Given the description of an element on the screen output the (x, y) to click on. 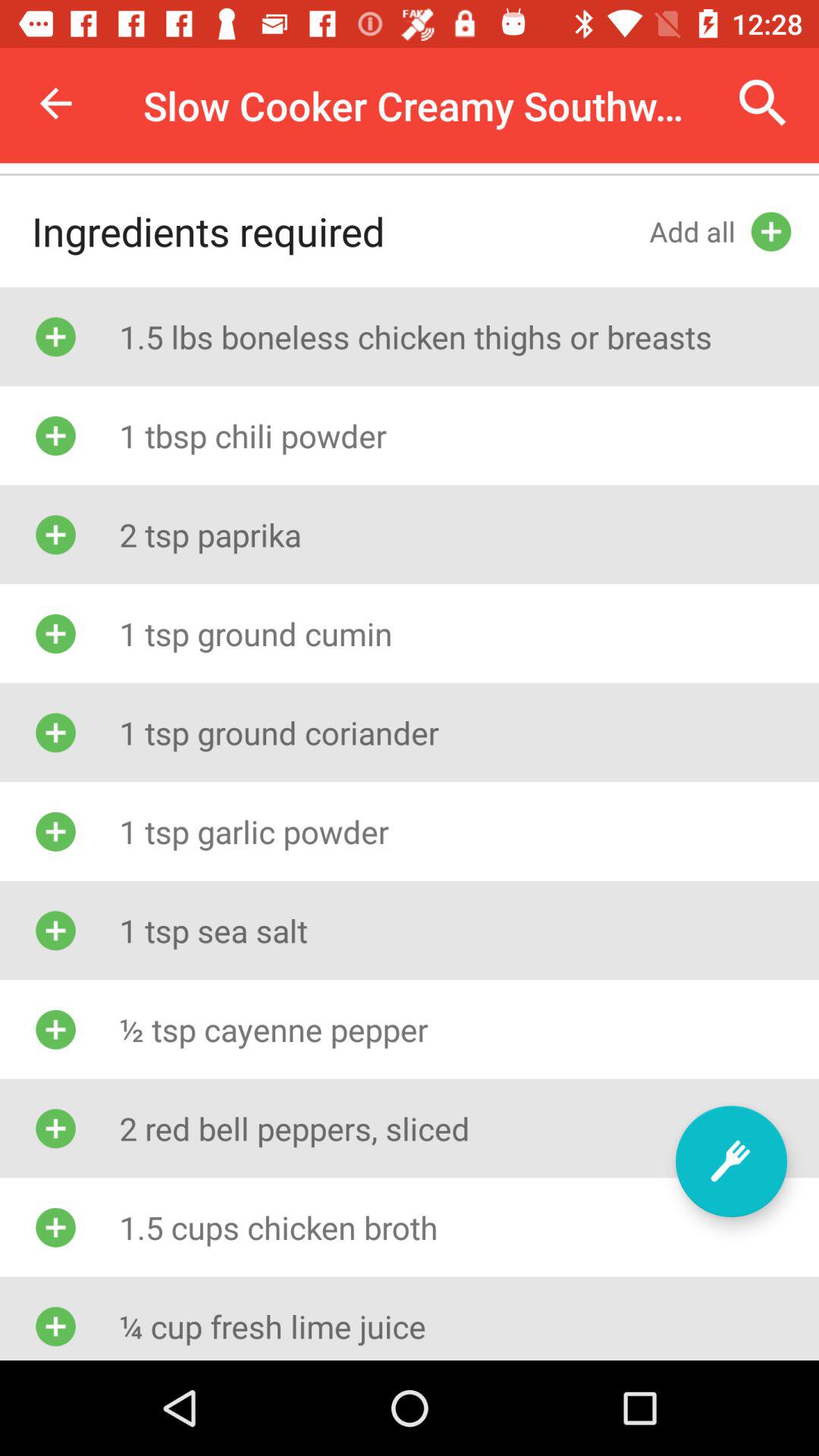
tap the item next to slow cooker creamy icon (763, 103)
